Given the description of an element on the screen output the (x, y) to click on. 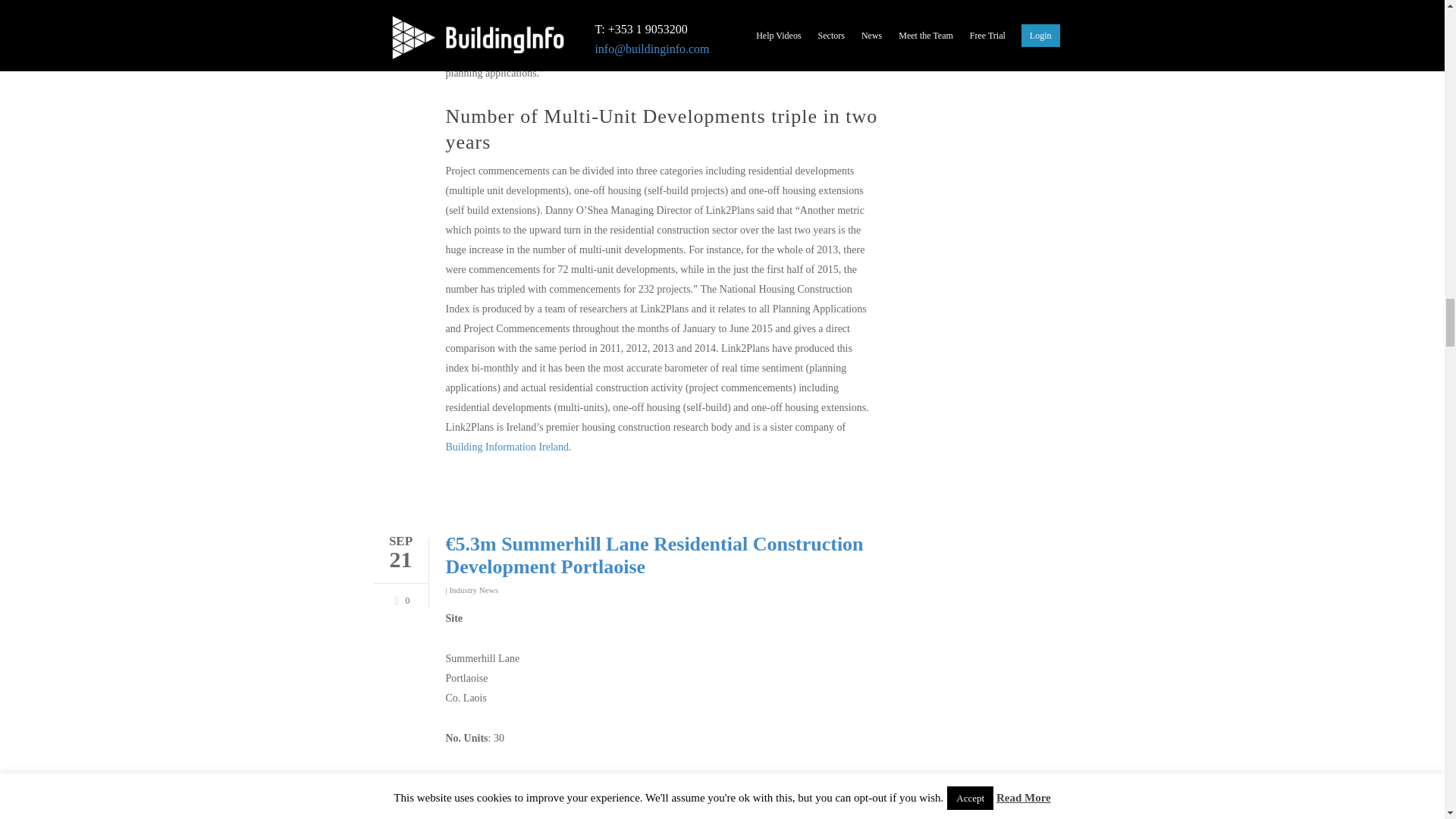
Love this (399, 598)
